Given the description of an element on the screen output the (x, y) to click on. 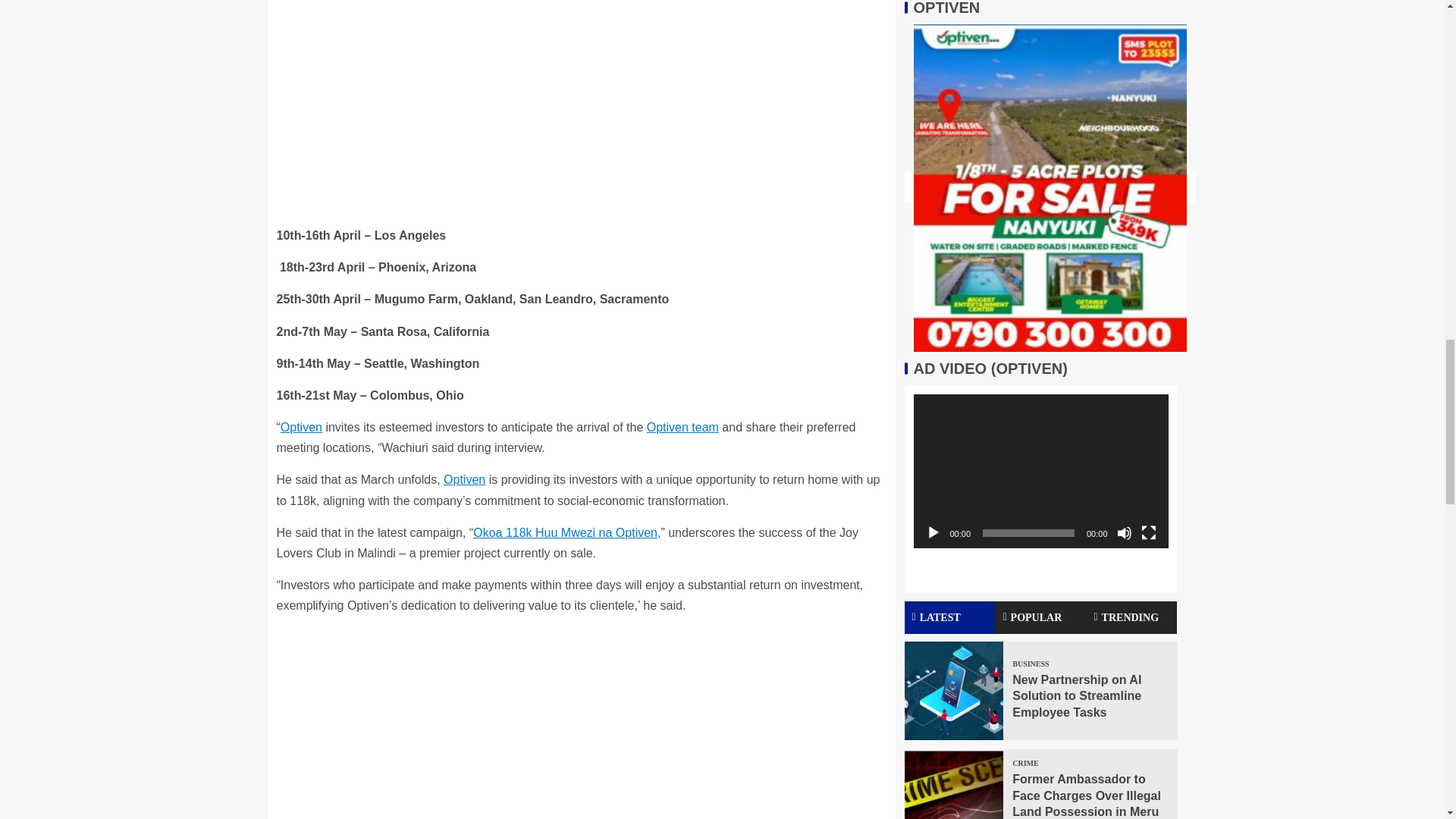
Okoa 118k Huu Mwezi na Optiven, (567, 532)
Optiven team (682, 427)
Optiven (301, 427)
Optiven (464, 479)
